Given the description of an element on the screen output the (x, y) to click on. 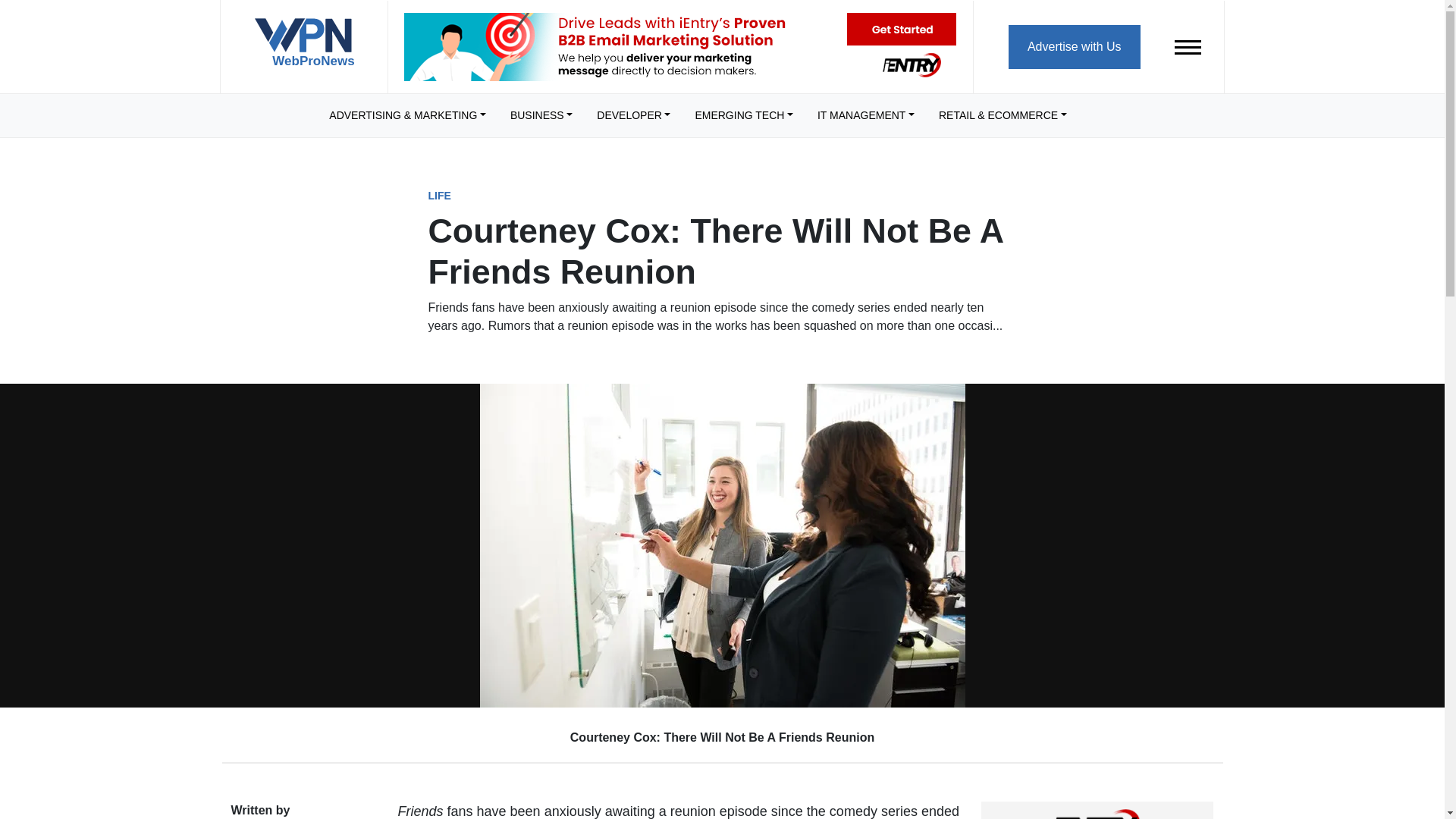
Advertise with Us (1074, 45)
WebProNews (303, 49)
